Given the description of an element on the screen output the (x, y) to click on. 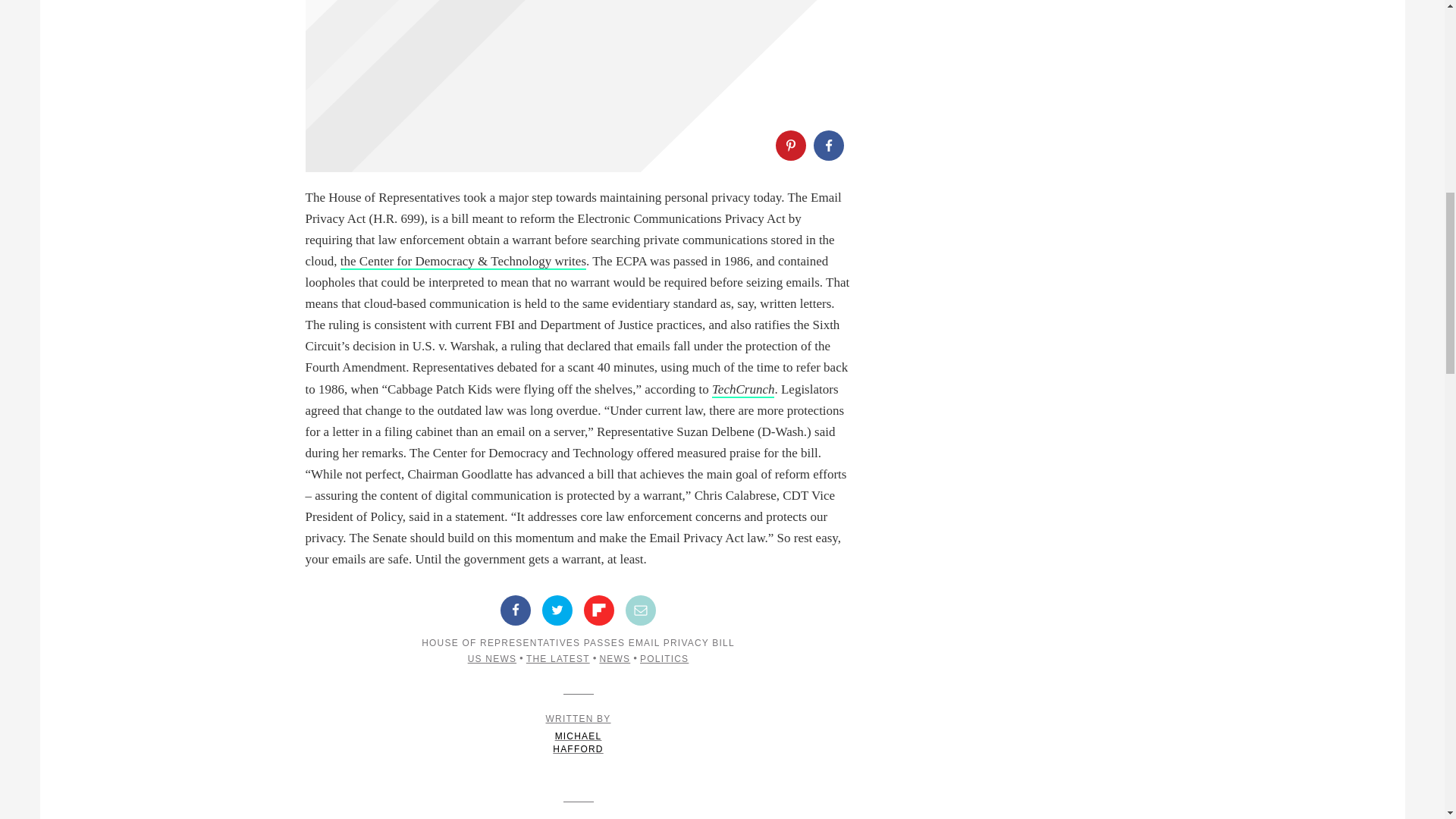
Share on Twitter (556, 610)
US NEWS (491, 658)
TechCrunch (742, 390)
Share on Flipboard (598, 610)
NEWS (614, 658)
POLITICS (577, 734)
Share on Pinterest (664, 658)
THE LATEST (789, 145)
Share by Email (557, 658)
